Given the description of an element on the screen output the (x, y) to click on. 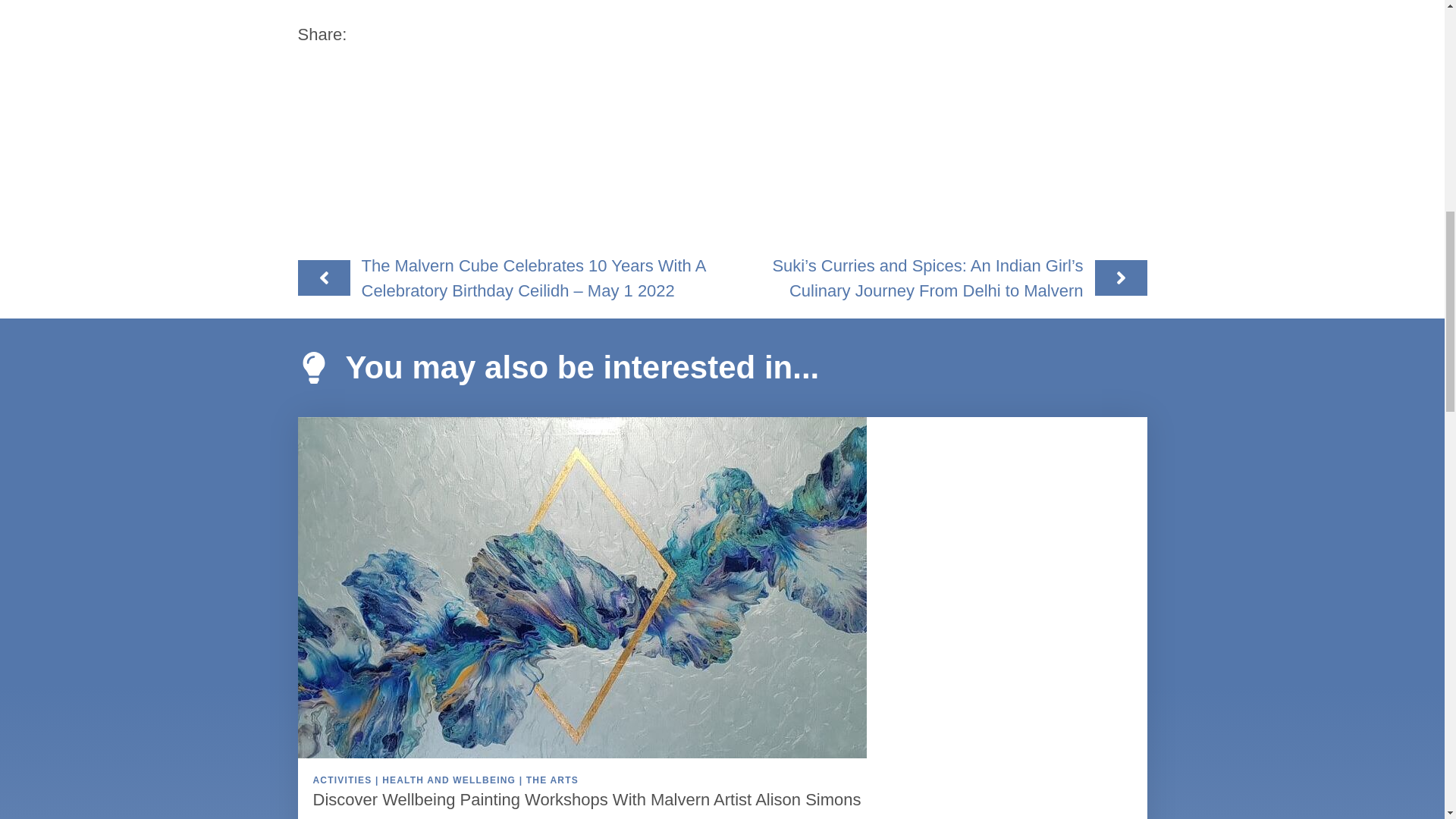
Scroll back to top (1406, 720)
